Given the description of an element on the screen output the (x, y) to click on. 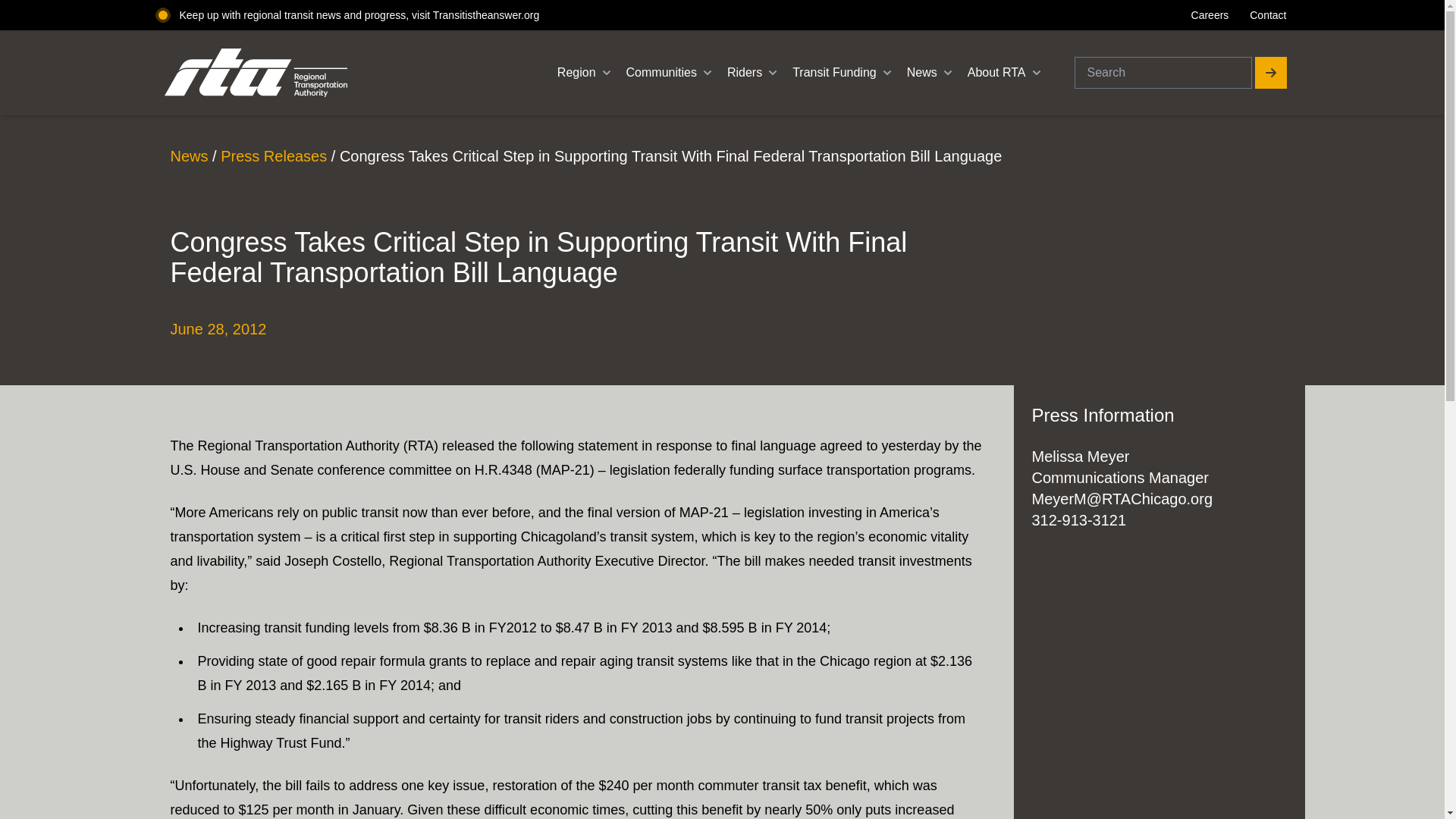
Careers (1209, 15)
Communities (670, 72)
Transit Funding (843, 72)
Contact (1267, 15)
Region (585, 72)
Regional Transportation Authority (341, 72)
Riders (753, 72)
